Given the description of an element on the screen output the (x, y) to click on. 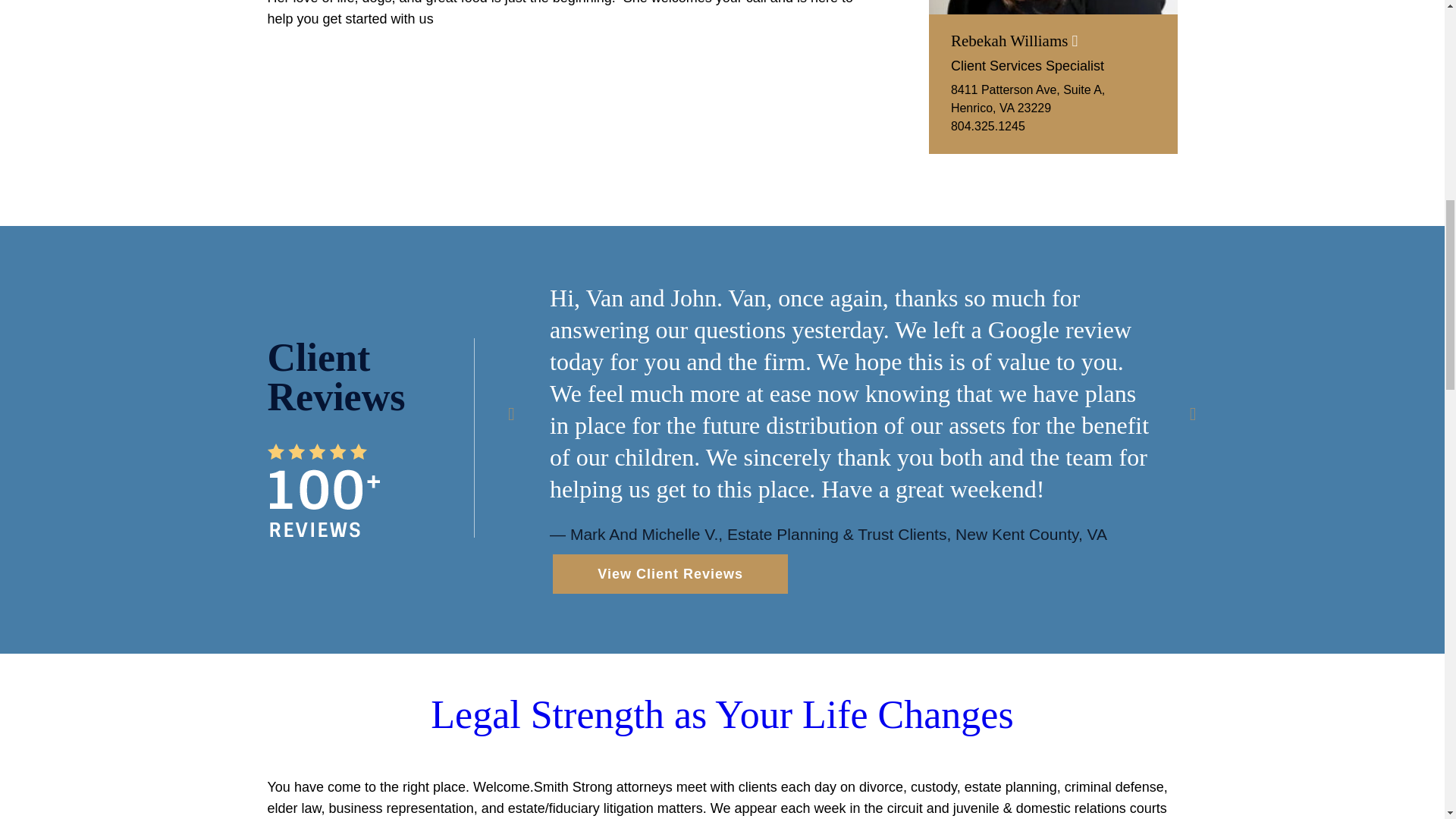
Send an email (1013, 40)
